Given the description of an element on the screen output the (x, y) to click on. 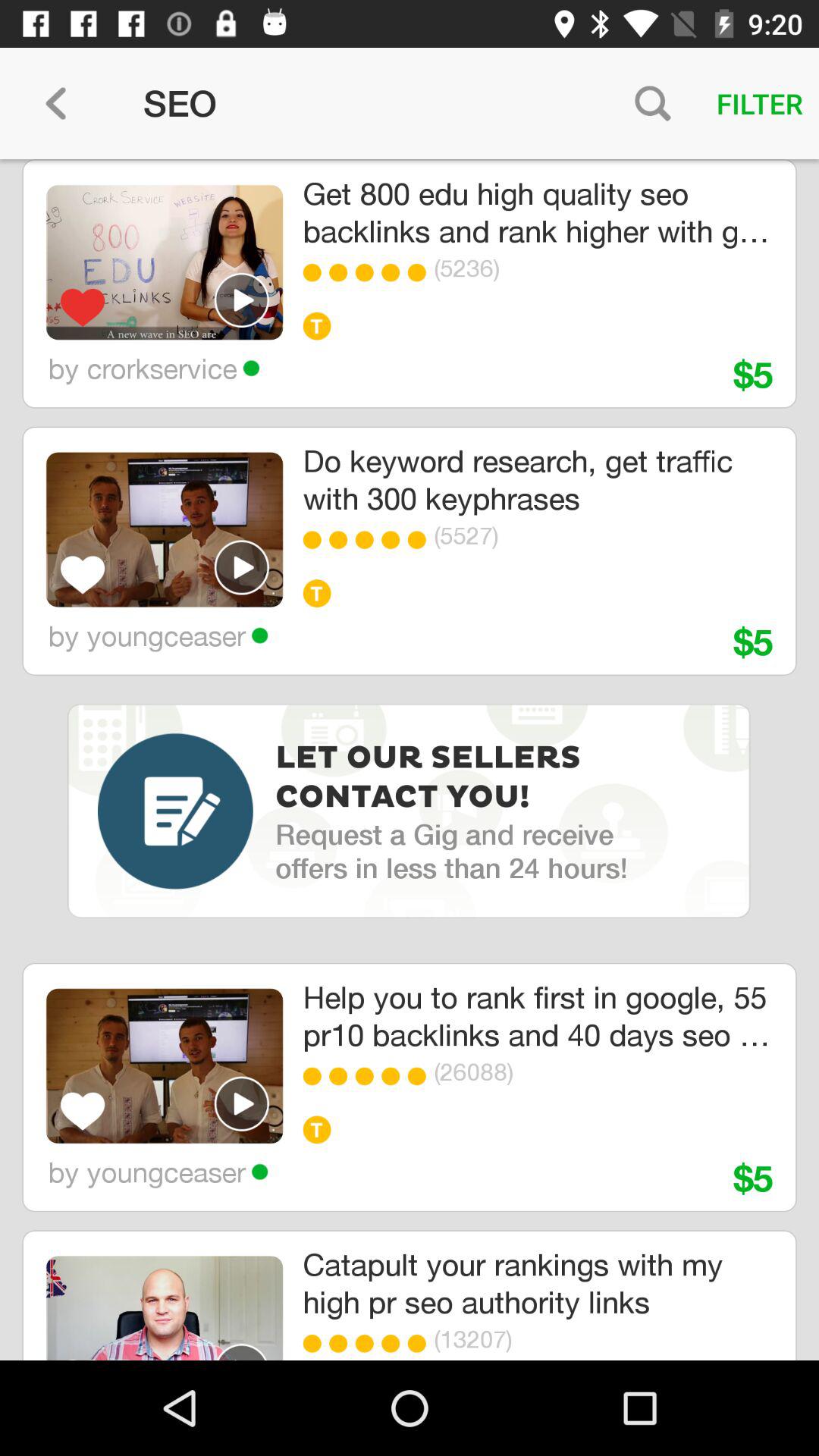
press icon above $5 item (579, 1071)
